Given the description of an element on the screen output the (x, y) to click on. 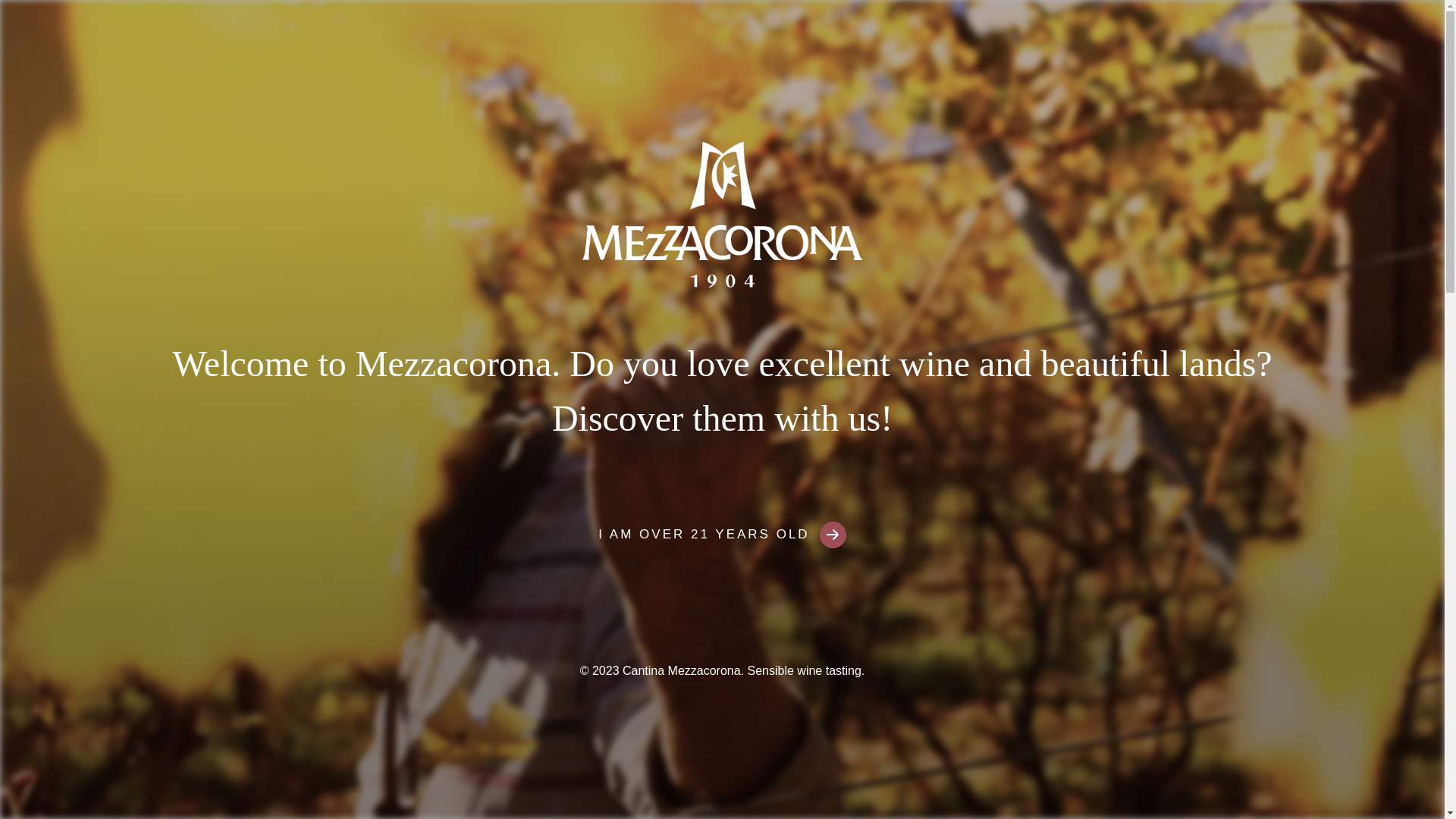
CONTACT US (1211, 48)
I AM OVER 21 YEARS OLD (721, 534)
